Given the description of an element on the screen output the (x, y) to click on. 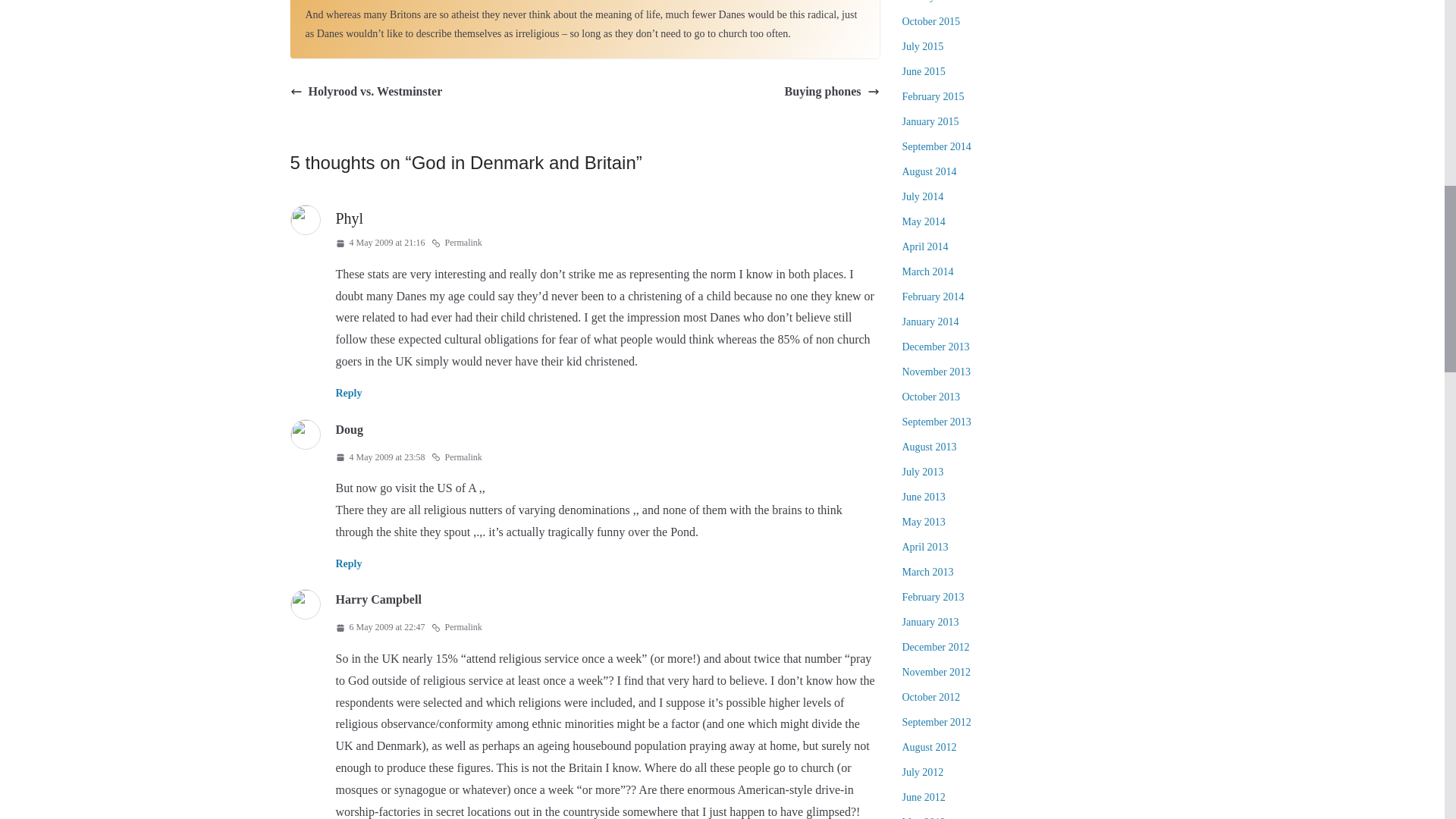
Holyrood vs. Westminster (365, 92)
Permalink (455, 627)
Reply (347, 563)
Buying phones (831, 92)
Reply (347, 392)
Permalink (455, 243)
Permalink (455, 457)
Phyl (348, 217)
